Given the description of an element on the screen output the (x, y) to click on. 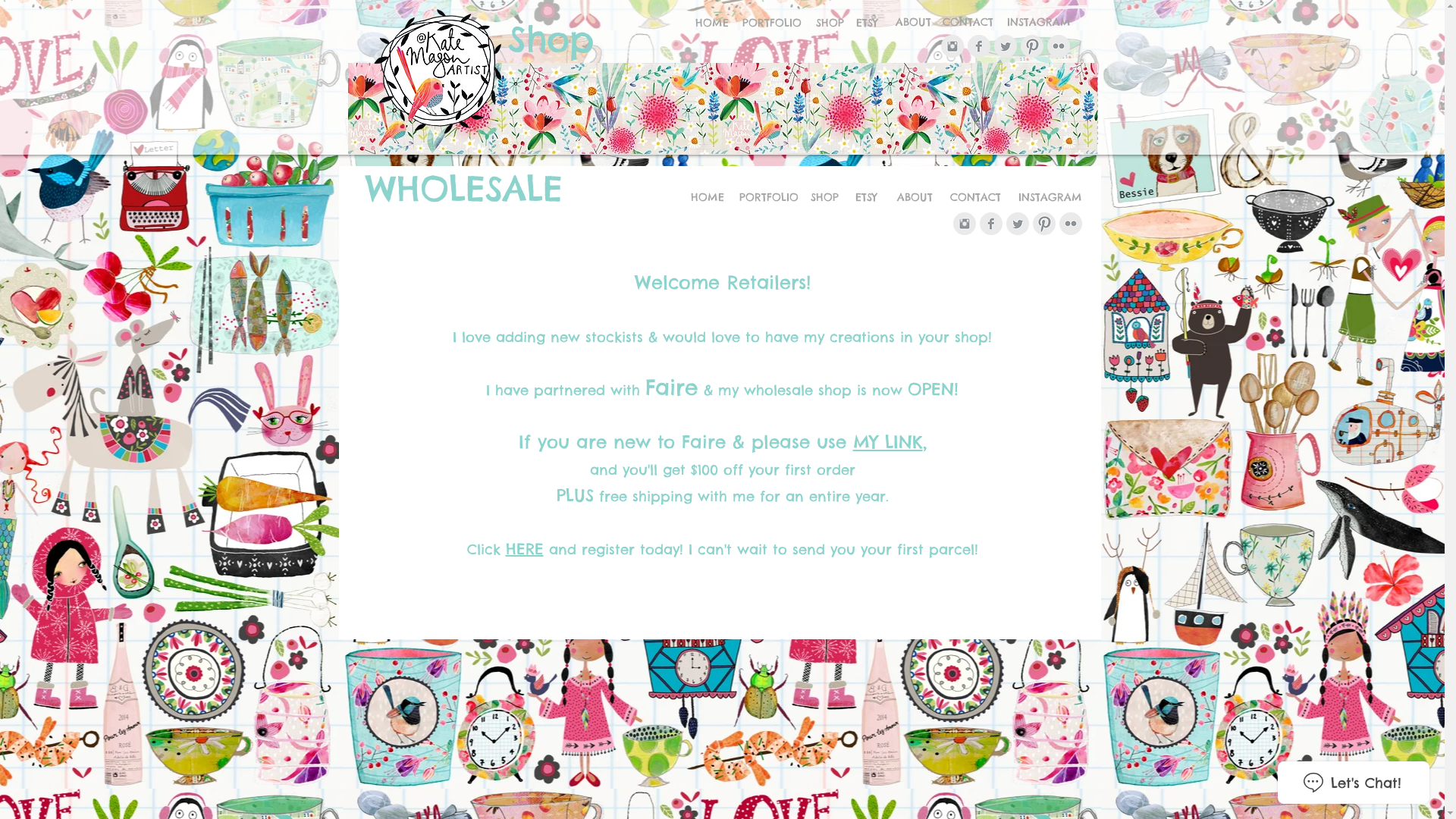
HOME Element type: text (706, 197)
ETSY Element type: text (865, 197)
HOME Element type: text (712, 23)
INSTAGRAM Element type: text (1037, 22)
ABOUT Element type: text (914, 197)
SHOP Element type: text (824, 197)
CONTACT Element type: text (975, 197)
MY LINK Element type: text (887, 441)
ABOUT Element type: text (912, 22)
ETSY Element type: text (867, 23)
PORTFOLIO Element type: text (771, 23)
HERE Element type: text (523, 548)
INSTAGRAM Element type: text (1050, 197)
CONTACT Element type: text (967, 22)
0 Element type: text (1079, 139)
SHOP Element type: text (828, 23)
PORTFOLIO Element type: text (768, 197)
